Given the description of an element on the screen output the (x, y) to click on. 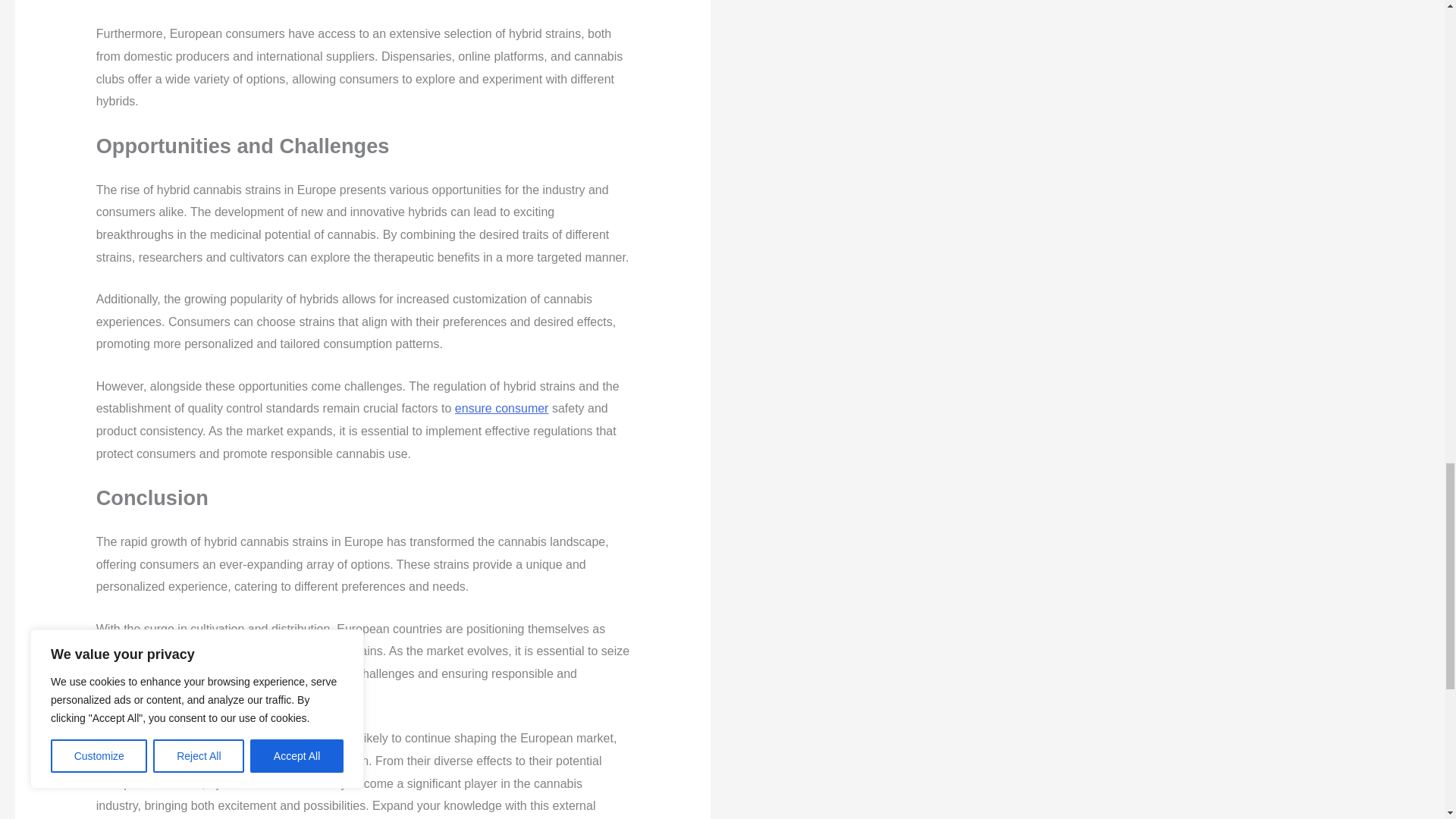
ensure consumer (501, 408)
